Given the description of an element on the screen output the (x, y) to click on. 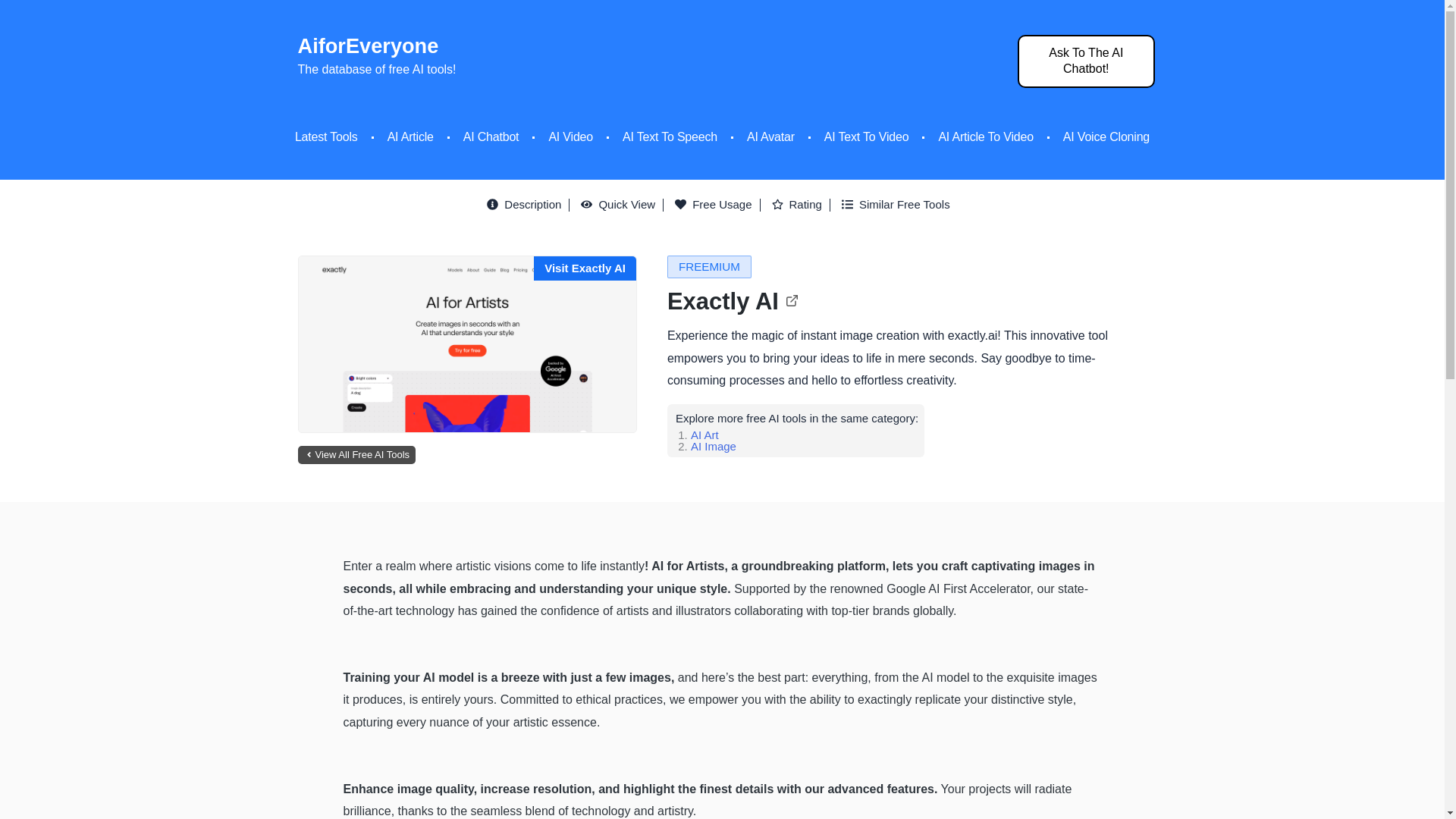
AI Voice Cloning (1106, 136)
AI Text To Speech (670, 136)
View All Free AI Tools (357, 454)
AiforEveryone (367, 45)
AI Article To Video (984, 136)
Exactly AI (731, 301)
Latest Tools (326, 136)
AI Text To Video (866, 136)
Visit Exactly AI (585, 267)
AI Image (713, 445)
AI Article (410, 136)
AI Avatar (770, 136)
AI Chatbot (491, 136)
Ask To The AI Chatbot! (1085, 61)
Similar Free Tools (899, 205)
